Given the description of an element on the screen output the (x, y) to click on. 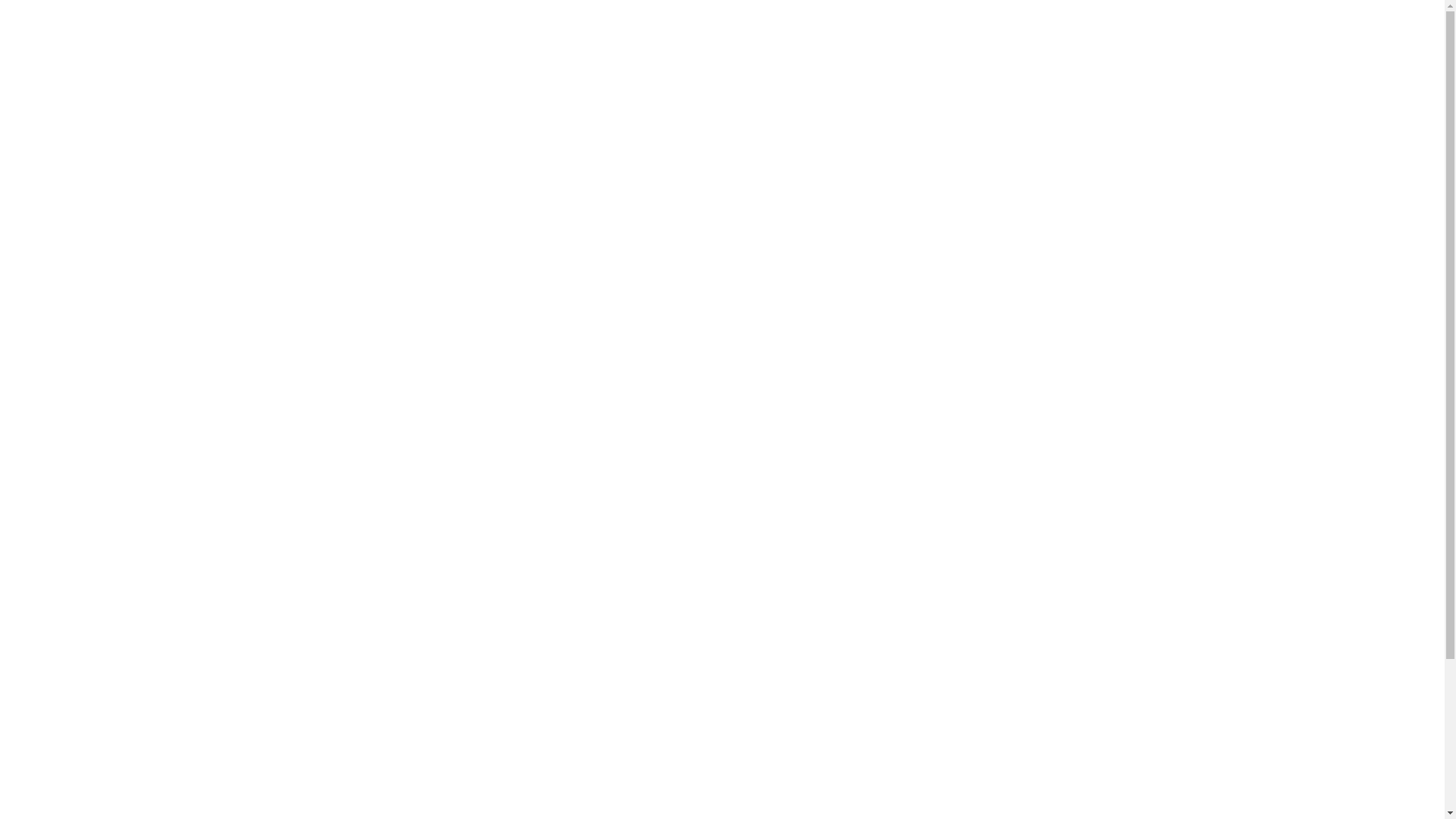
Studie Element type: text (279, 474)
Die Publikation Element type: text (38, 118)
Antworten lesen Element type: text (39, 90)
Hinweise Element type: text (22, 104)
